Given the description of an element on the screen output the (x, y) to click on. 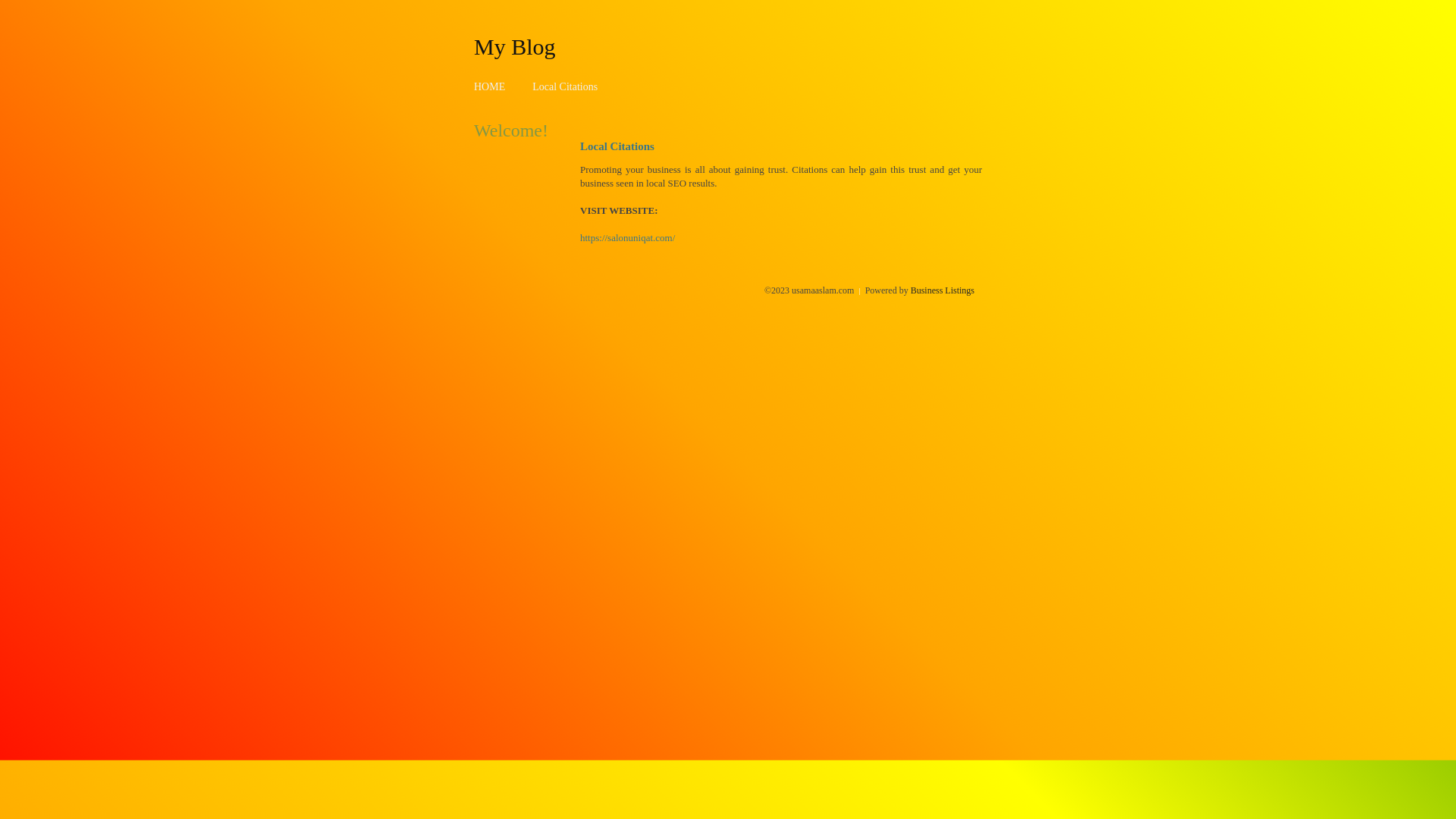
https://salonuniqat.com/ Element type: text (627, 237)
HOME Element type: text (489, 86)
My Blog Element type: text (514, 46)
Business Listings Element type: text (942, 290)
Local Citations Element type: text (564, 86)
